Given the description of an element on the screen output the (x, y) to click on. 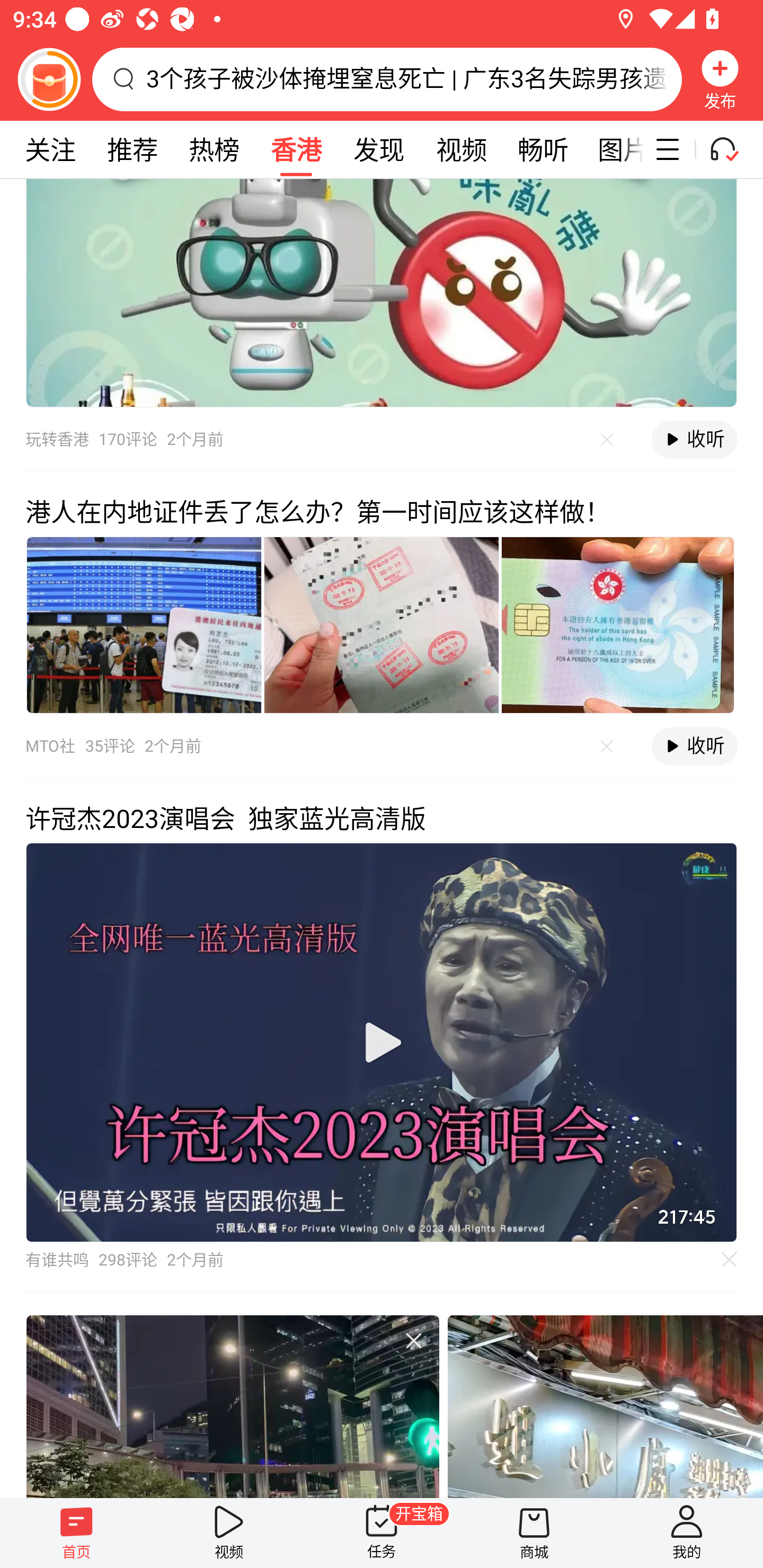
阅读赚金币 (48, 79)
发布 发布，按钮 (720, 78)
关注 (50, 149)
推荐 (132, 149)
热榜 (213, 149)
香港 (295, 149)
发现 (378, 149)
视频 (461, 149)
畅听 (542, 149)
听一听开关 (732, 149)
作者为  玩转香港  170评论  发布于2个月前   不感兴趣 收听 (381, 324)
收听 (694, 439)
不感兴趣 (607, 438)
内容图片 (143, 625)
内容图片 (381, 625)
内容图片 (617, 625)
收听 (694, 746)
不感兴趣 (607, 746)
播放视频 视频播放器，双击屏幕打开播放控制 (381, 1042)
播放视频 (381, 1042)
不感兴趣 (729, 1258)
有没有发现，香港人看起来普遍比实际年龄要小？#香港人不显老 #香港人, 49万次播放 不感兴趣 (232, 1405)
香港大排档 #香港大排档 #香港美食, 10万次播放 (604, 1405)
不感兴趣 (413, 1340)
首页 (76, 1532)
视频 (228, 1532)
任务 开宝箱 (381, 1532)
商城 (533, 1532)
我的 (686, 1532)
